Given the description of an element on the screen output the (x, y) to click on. 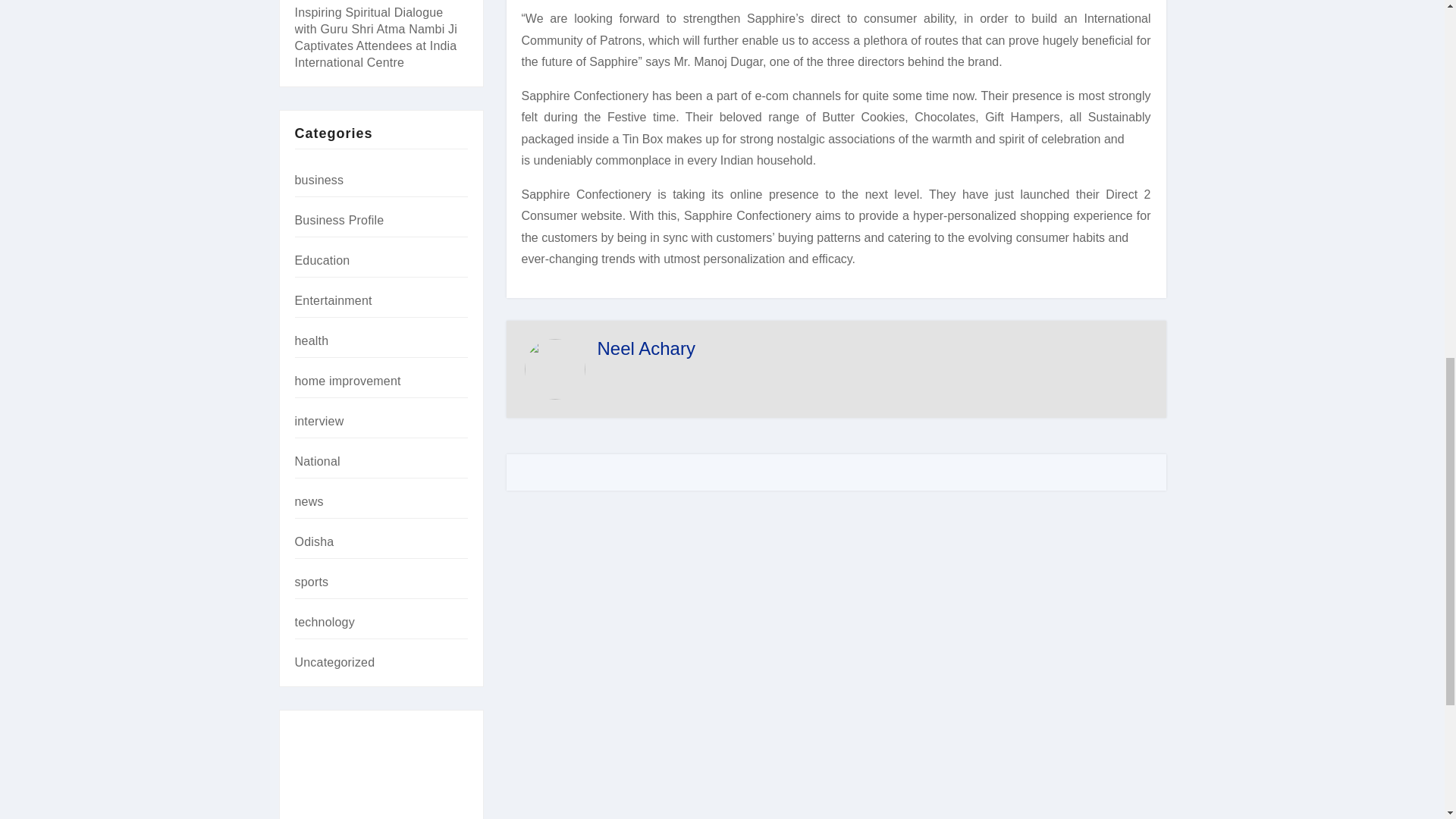
Uncategorized (334, 662)
technology (323, 621)
sports (311, 581)
Odisha (313, 541)
news (308, 501)
Entertainment (332, 300)
Neel Achary (645, 348)
interview (318, 420)
National (316, 461)
business (318, 179)
